Given the description of an element on the screen output the (x, y) to click on. 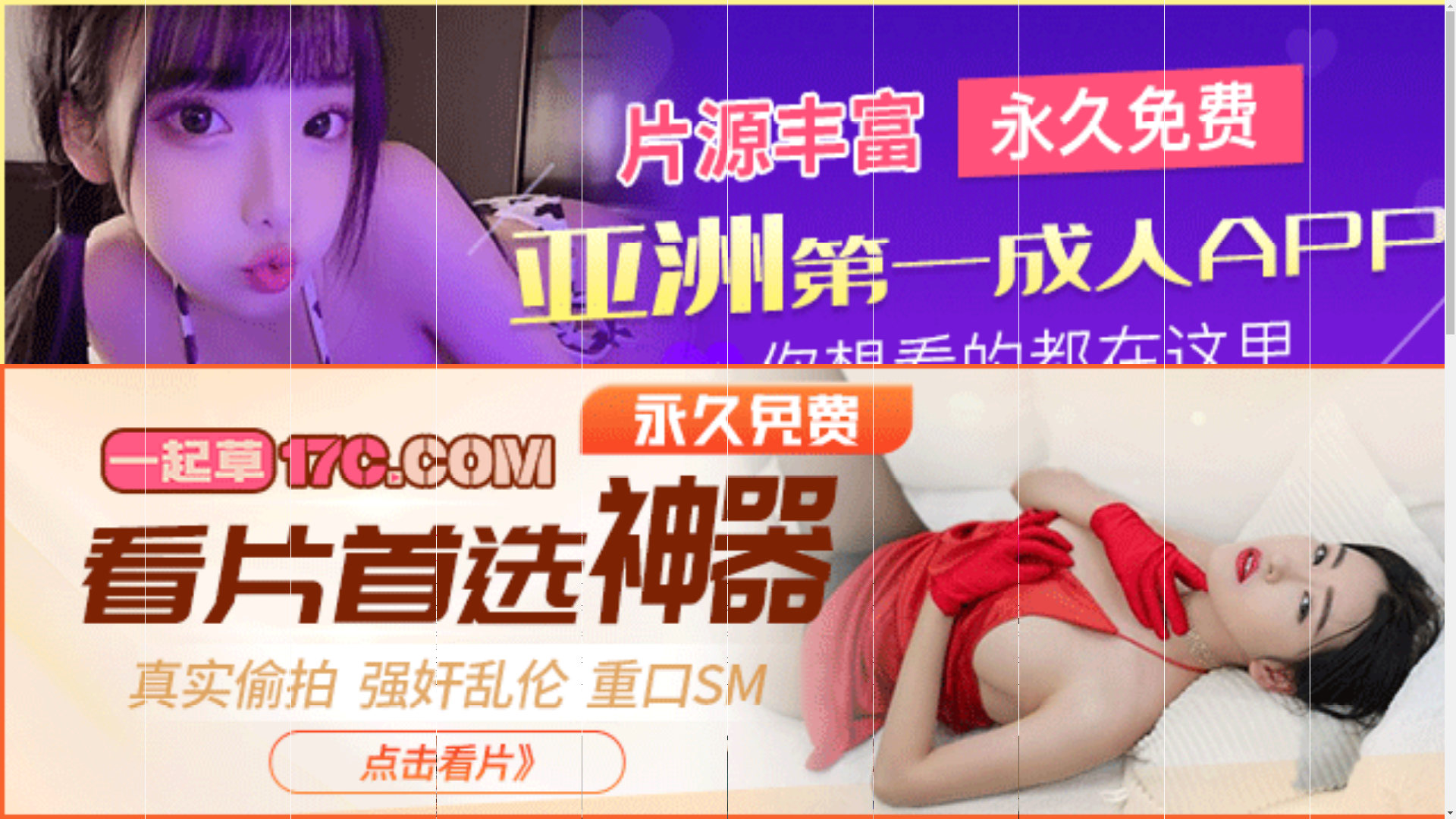
Korean Element type: text (700, 620)
SM Element type: text (1013, 620)
91 Element type: text (567, 594)
COS Element type: text (835, 646)
91TV Element type: hover (1240, 593)
3P Element type: text (968, 620)
